Given the description of an element on the screen output the (x, y) to click on. 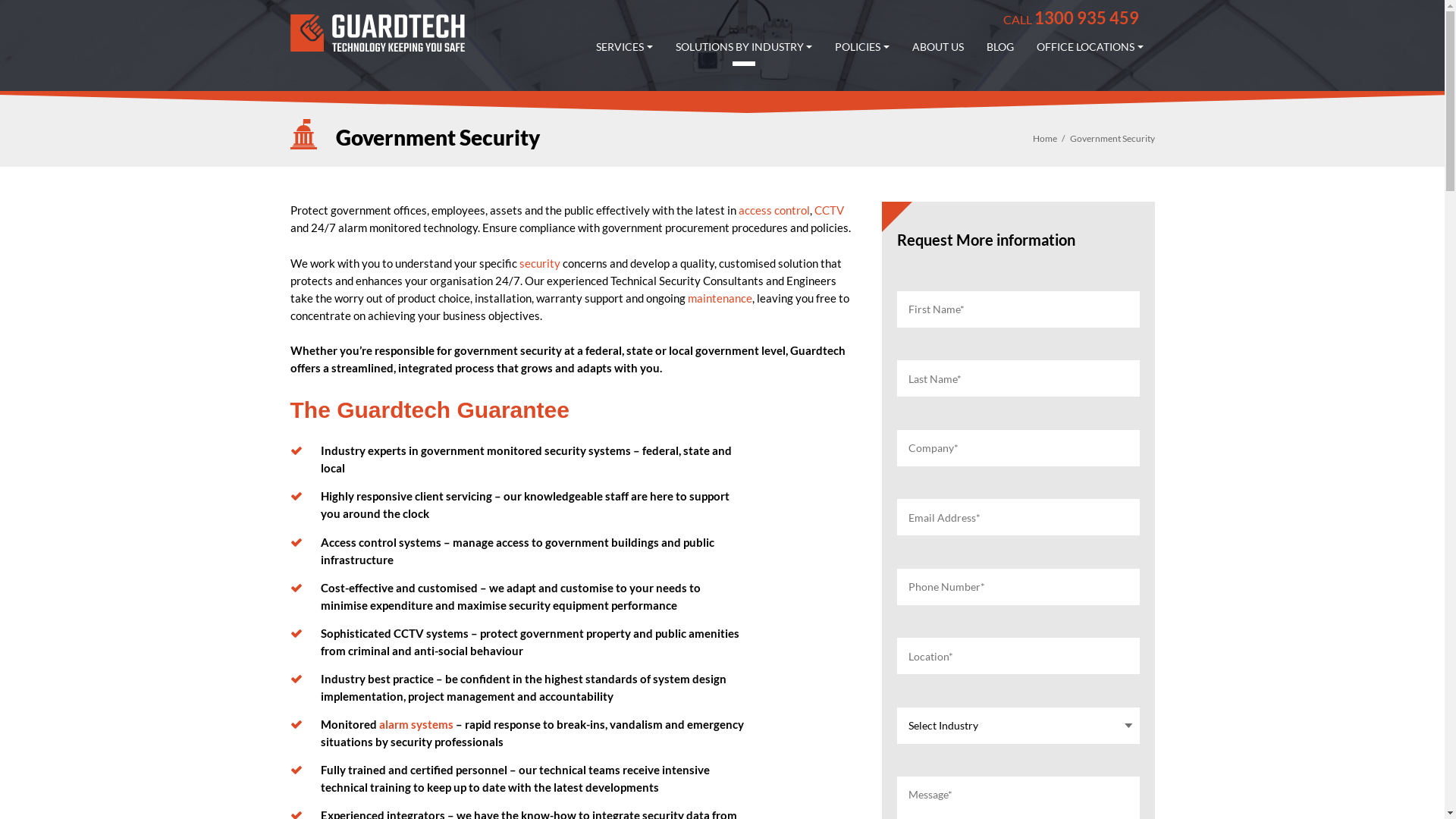
SOLUTIONS BY INDUSTRY Element type: text (744, 46)
ABOUT US Element type: text (937, 46)
SERVICES Element type: text (624, 46)
maintenance Element type: text (719, 297)
CCTV Element type: text (829, 209)
POLICIES Element type: text (861, 46)
access control Element type: text (773, 209)
CALL 1300 935 459 Element type: text (1070, 17)
OFFICE LOCATIONS Element type: text (1089, 46)
BLOG Element type: text (1000, 46)
security Element type: text (538, 262)
Home Element type: text (1044, 138)
alarm systems Element type: text (416, 724)
